Given the description of an element on the screen output the (x, y) to click on. 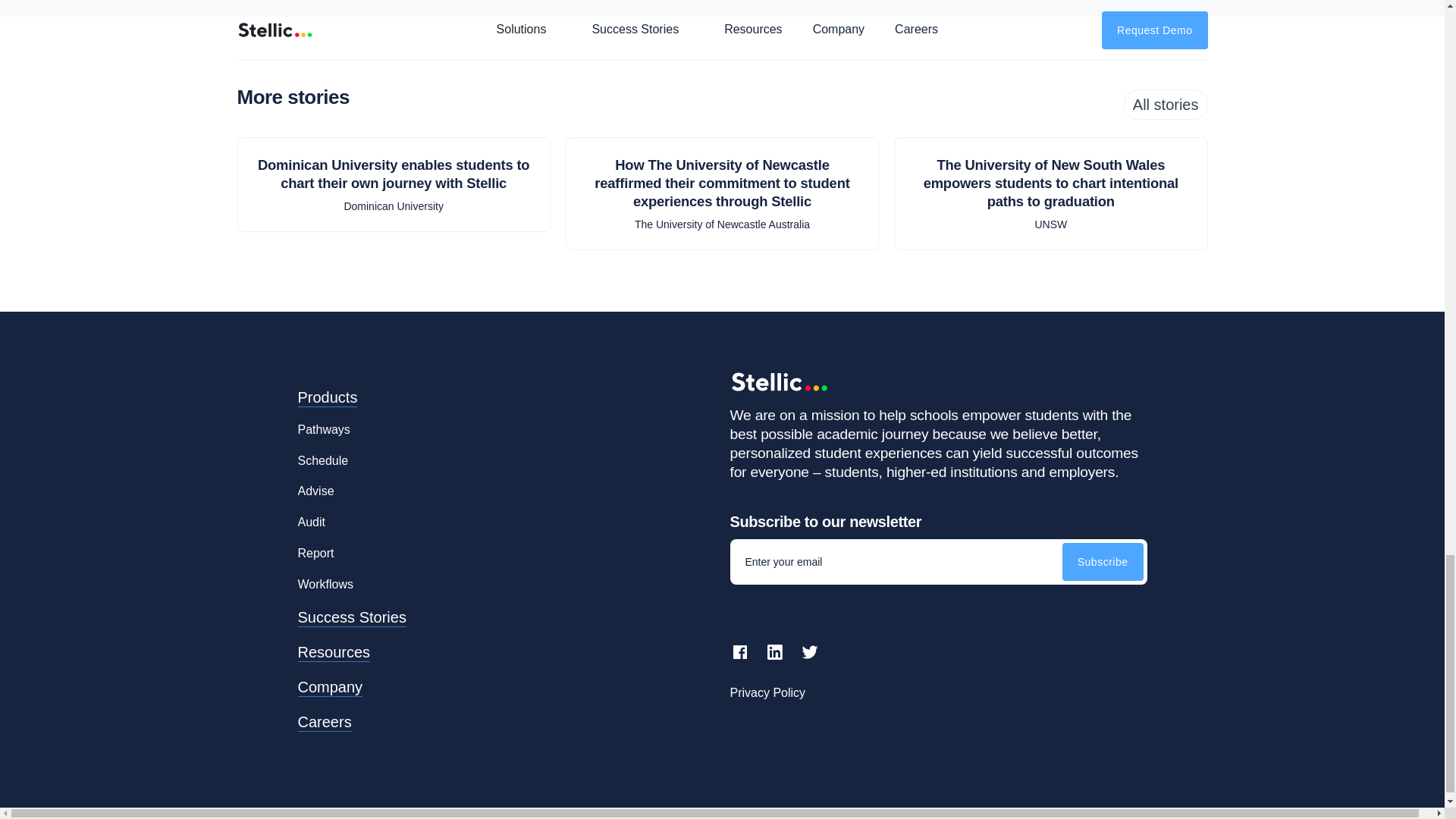
Success Stories (351, 611)
Subscribe (1102, 561)
Subscribe (1102, 561)
Pathways (323, 424)
All stories (1166, 104)
Resources (333, 645)
Careers (323, 716)
Report (315, 547)
Products (326, 397)
Advise (315, 485)
Workflows (325, 578)
Schedule (322, 454)
